Given the description of an element on the screen output the (x, y) to click on. 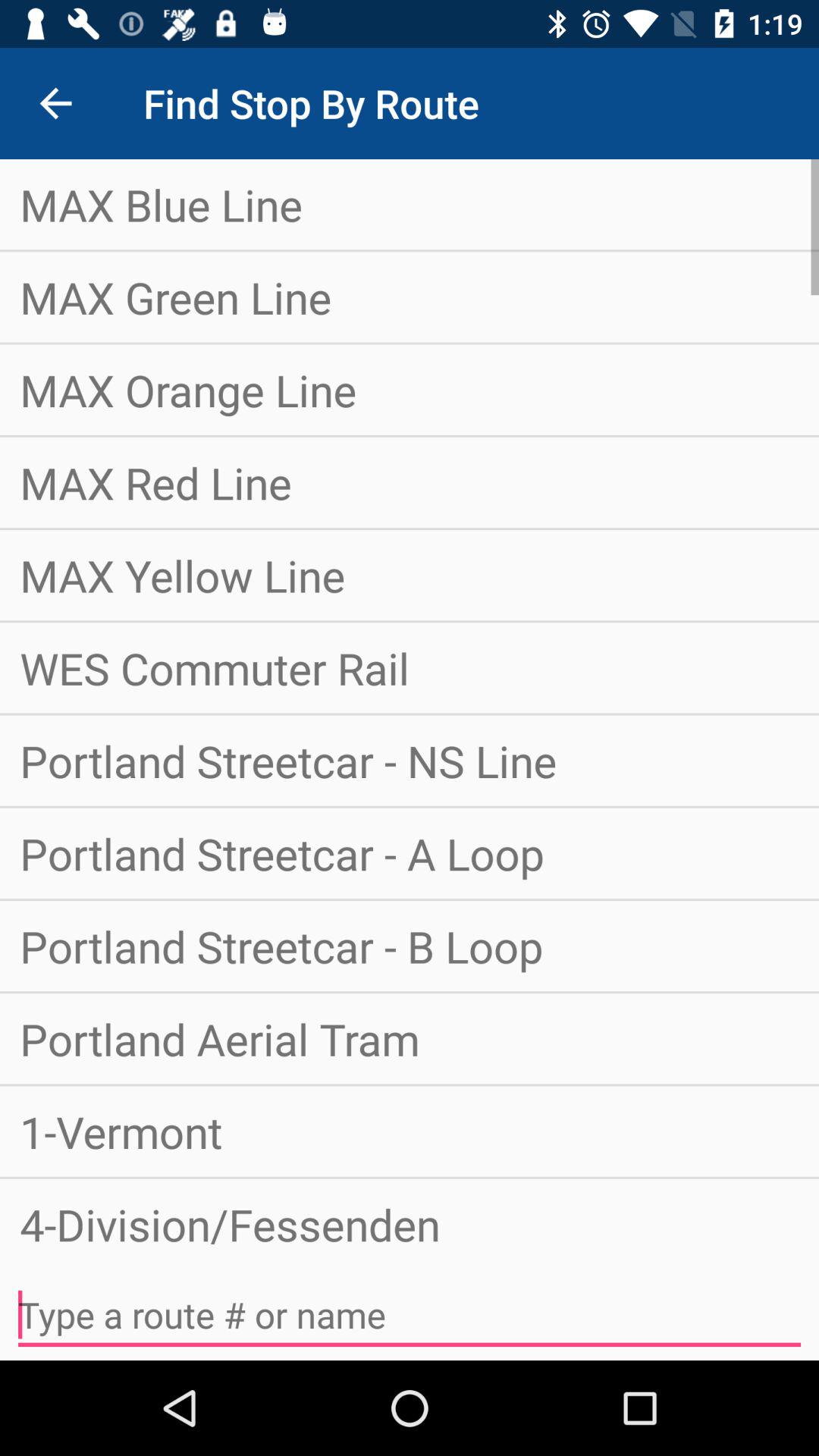
jump until wes commuter rail icon (409, 667)
